Given the description of an element on the screen output the (x, y) to click on. 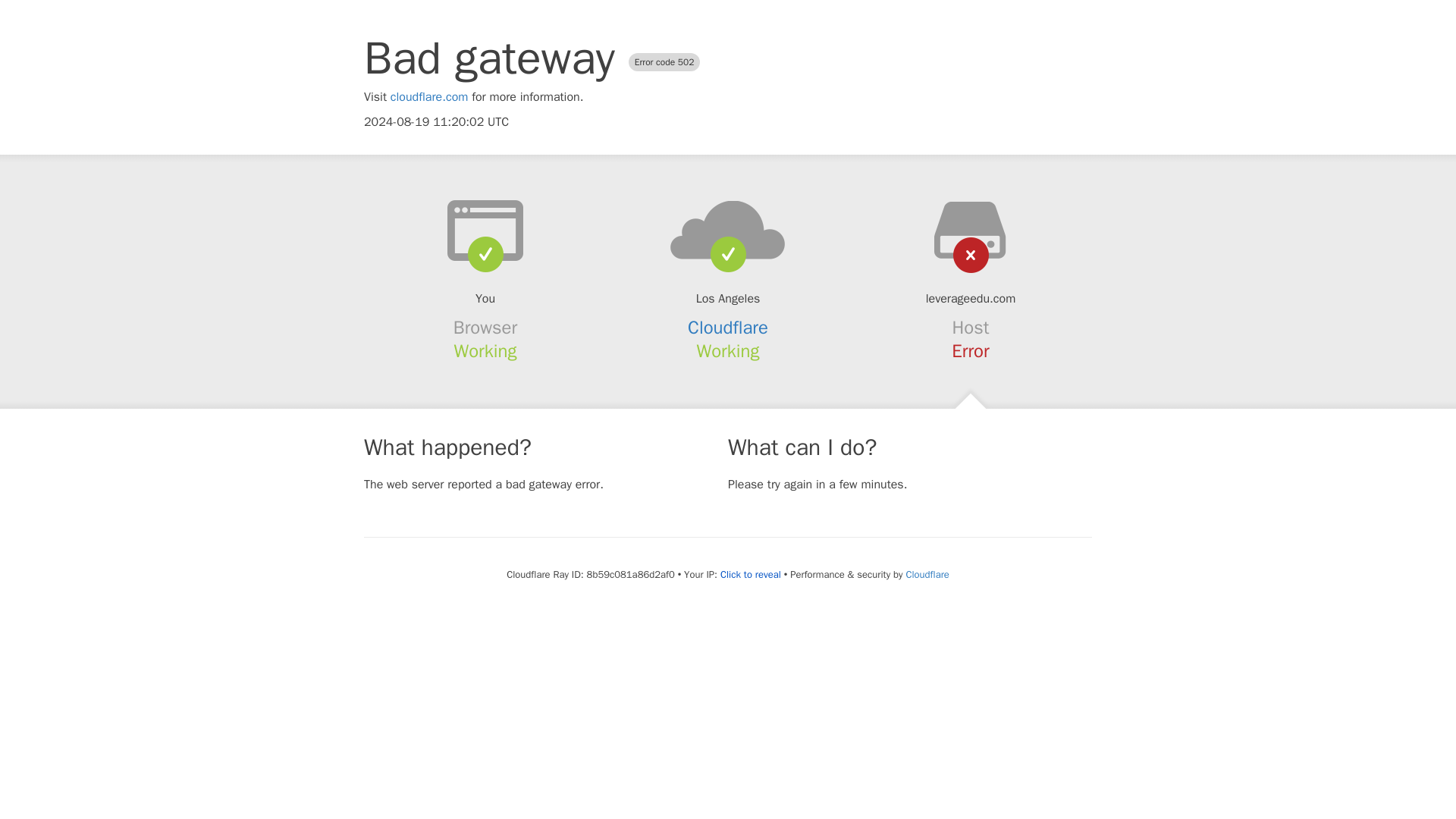
Cloudflare (727, 327)
cloudflare.com (429, 96)
Click to reveal (750, 574)
Cloudflare (927, 574)
